Given the description of an element on the screen output the (x, y) to click on. 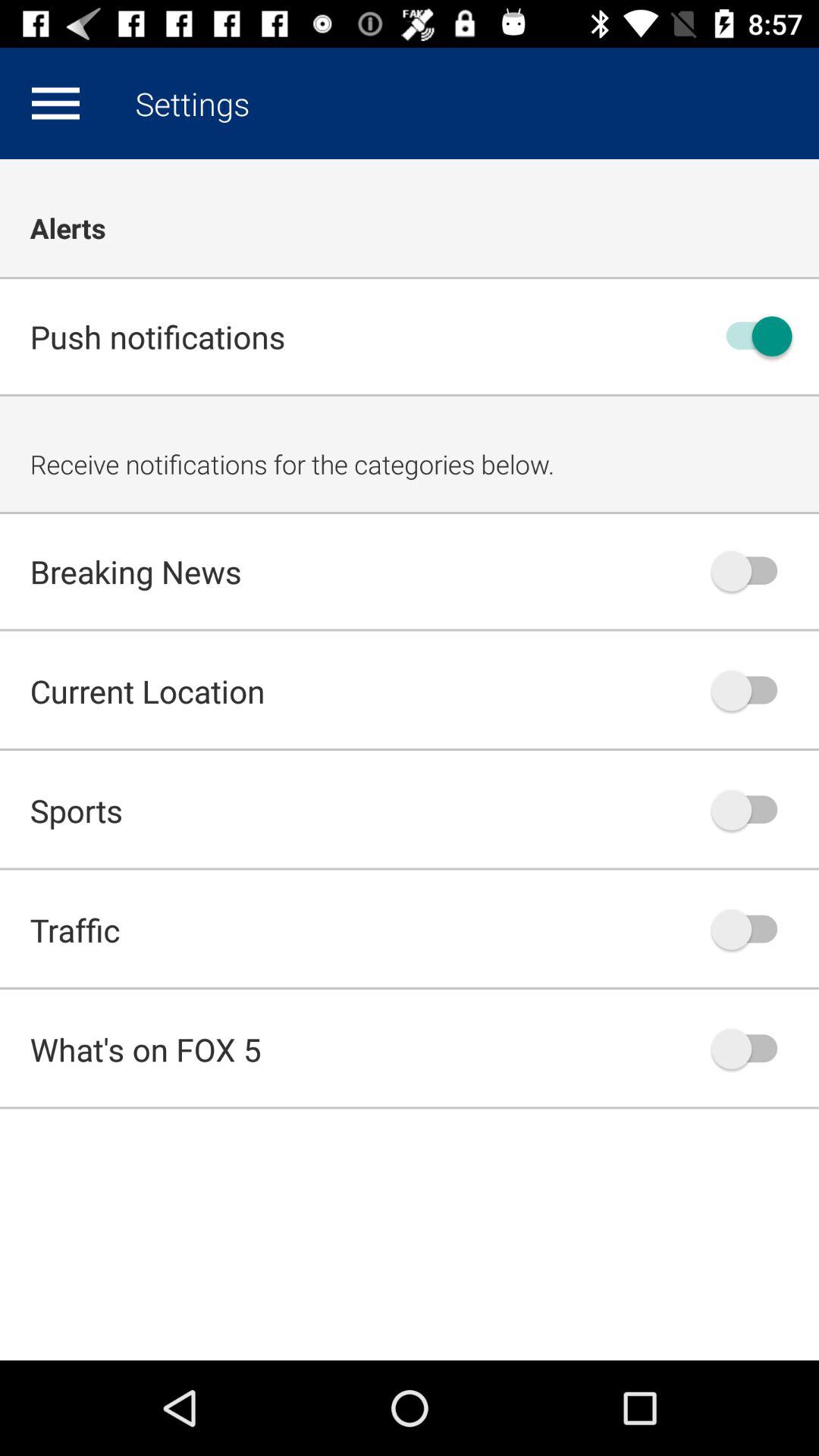
toggle notification option (751, 1049)
